Given the description of an element on the screen output the (x, y) to click on. 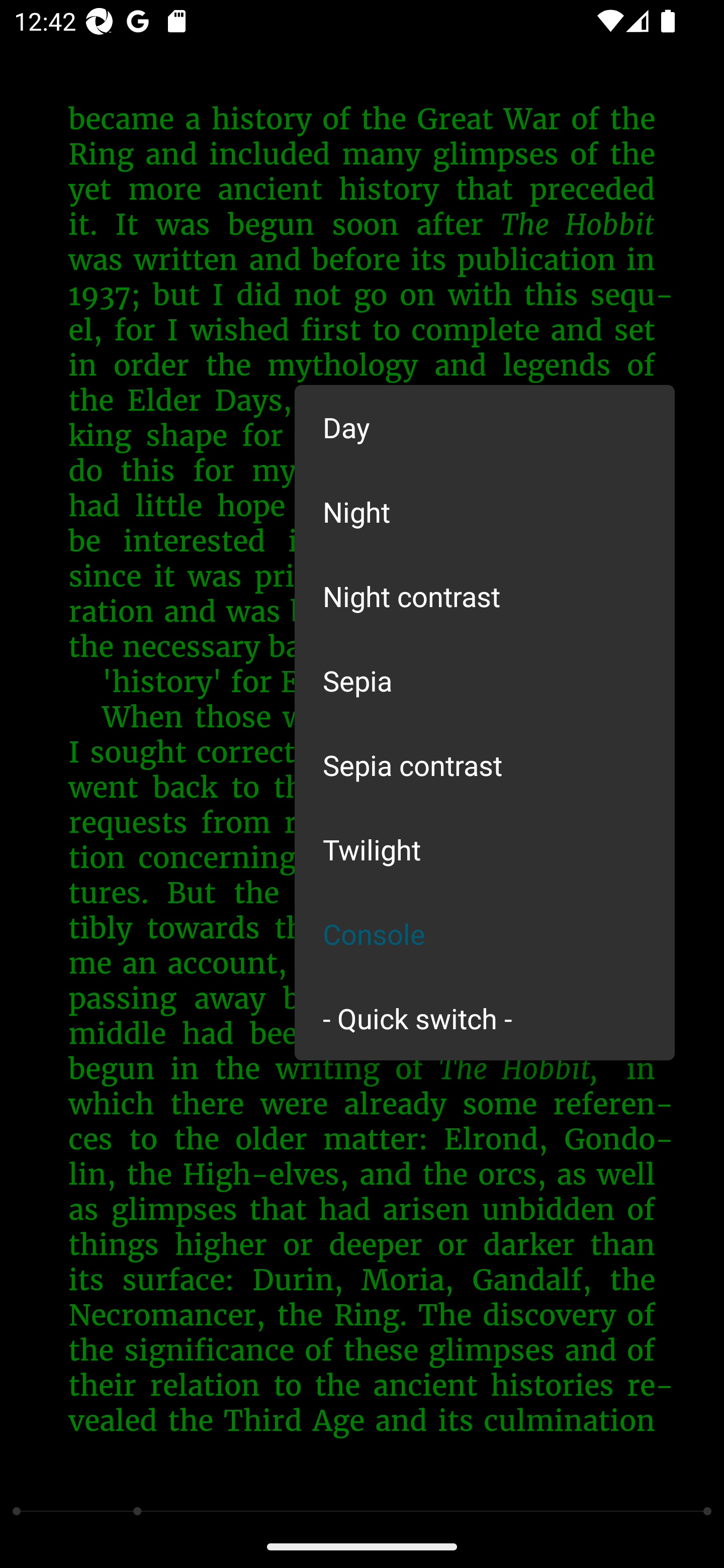
Day (484, 426)
Night (484, 510)
Night contrast (484, 595)
Sepia (484, 680)
Sepia contrast (484, 764)
Twilight (484, 849)
Console (484, 933)
- Quick switch - (484, 1017)
